Given the description of an element on the screen output the (x, y) to click on. 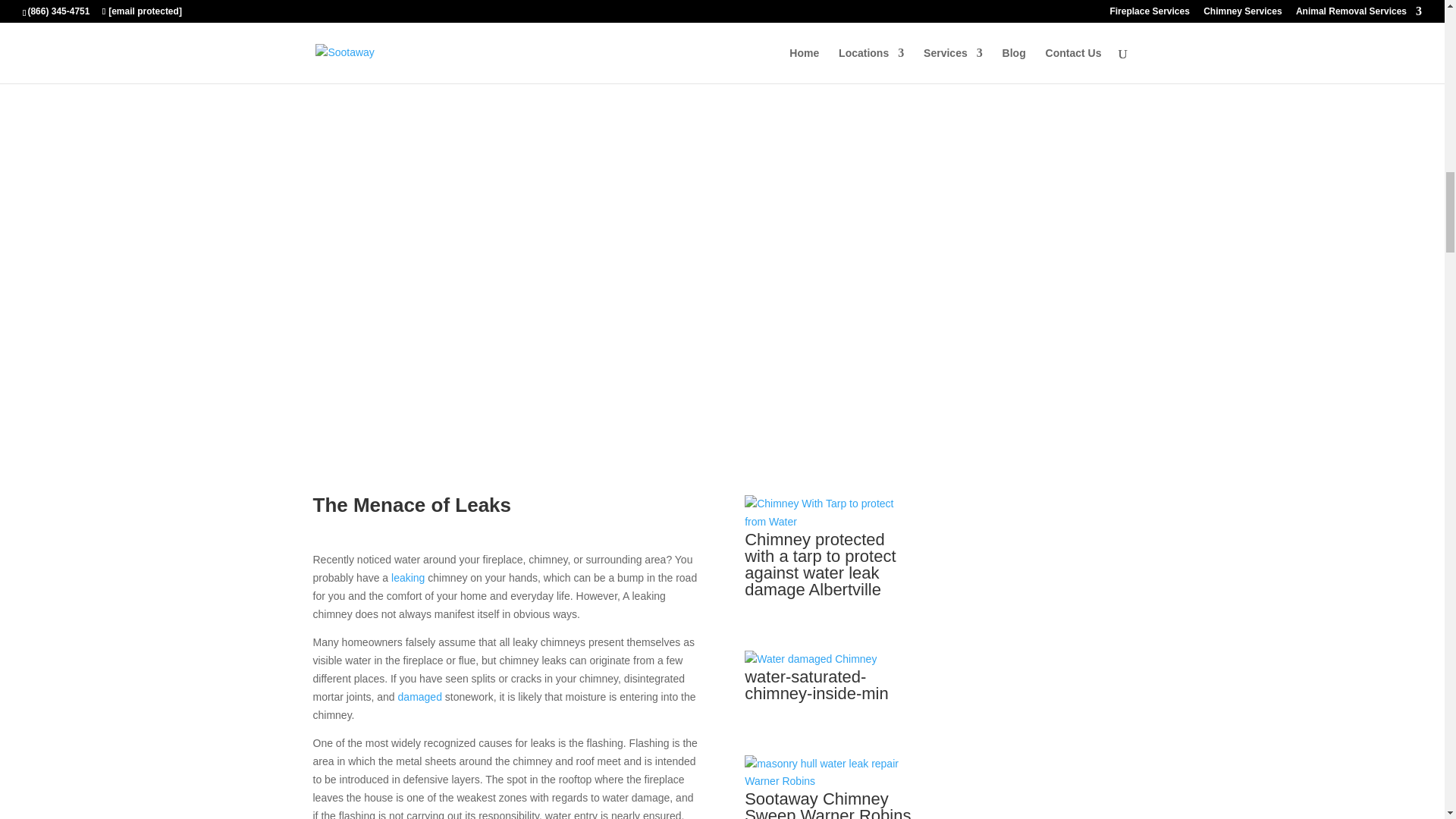
Sootaway Chimney Sweep Warner Robins (829, 780)
water-saturated-chimney-inside-min (810, 658)
